Given the description of an element on the screen output the (x, y) to click on. 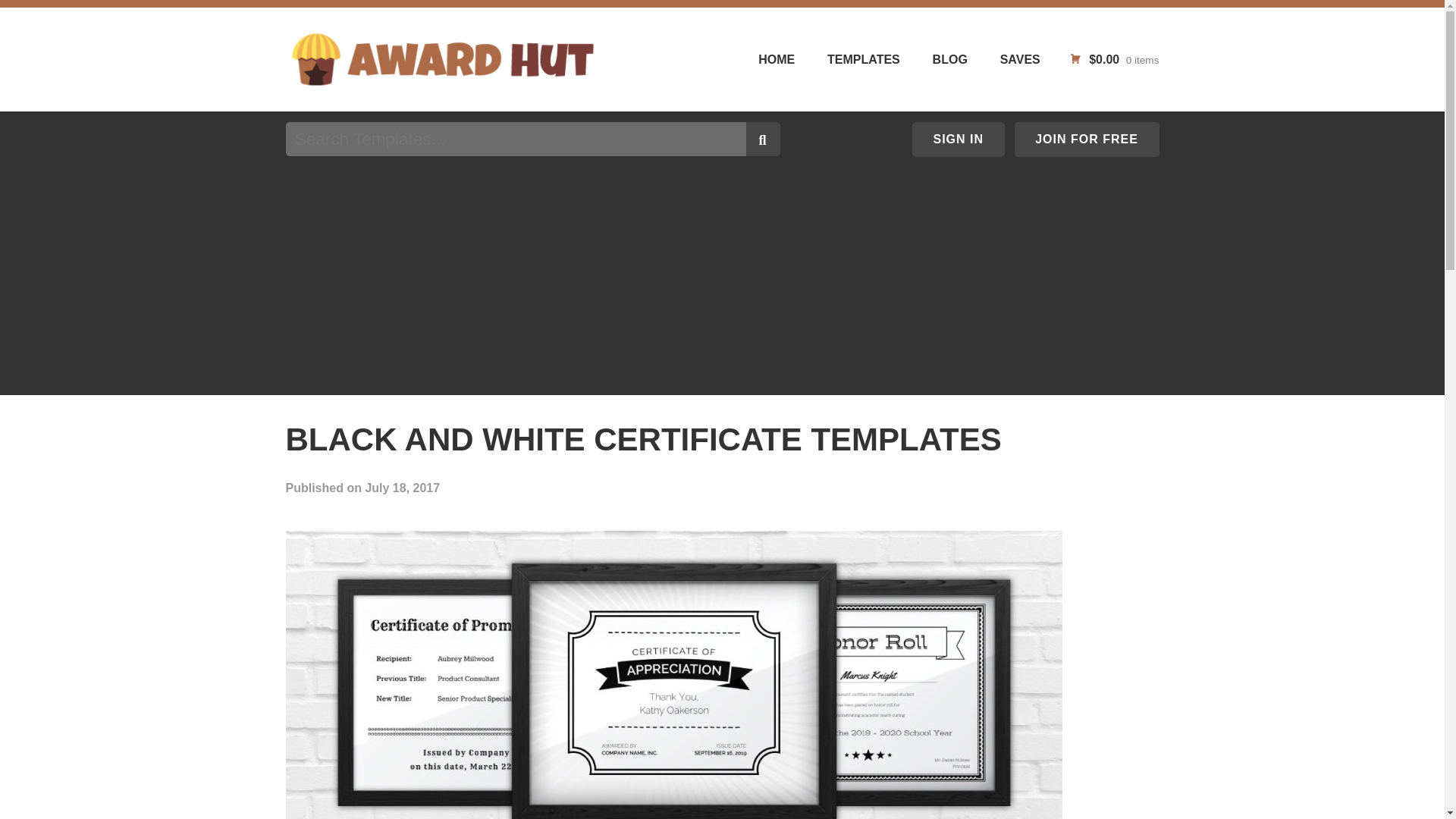
HOME (761, 58)
SIGN IN (958, 139)
SAVES (1005, 58)
AWARD HUT (381, 107)
BLOG (935, 58)
TEMPLATES (848, 58)
View your shopping cart (1113, 59)
JOIN FOR FREE (1086, 139)
